Given the description of an element on the screen output the (x, y) to click on. 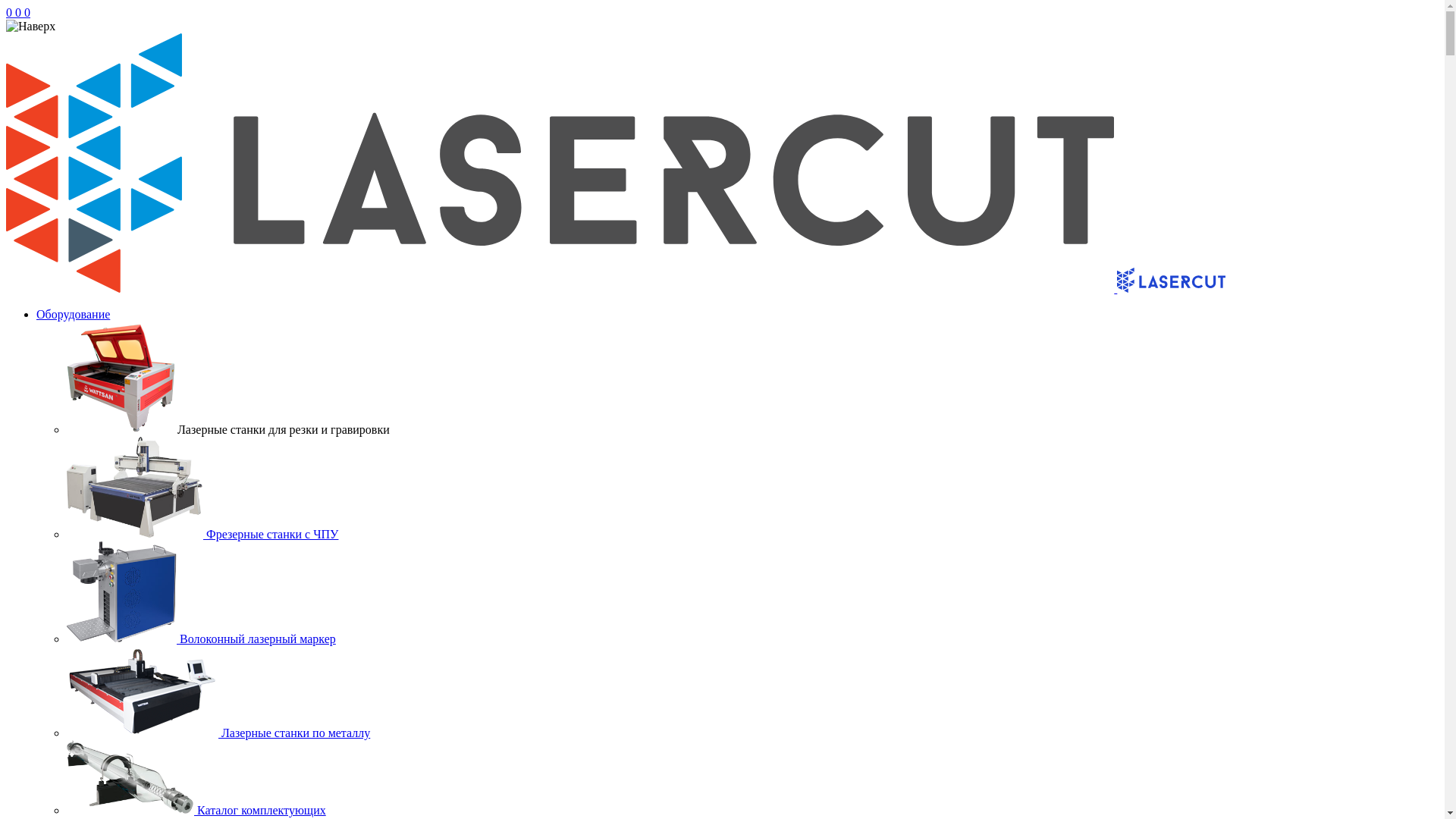
0 Element type: text (10, 12)
0 Element type: text (19, 12)
0 Element type: text (27, 12)
